Given the description of an element on the screen output the (x, y) to click on. 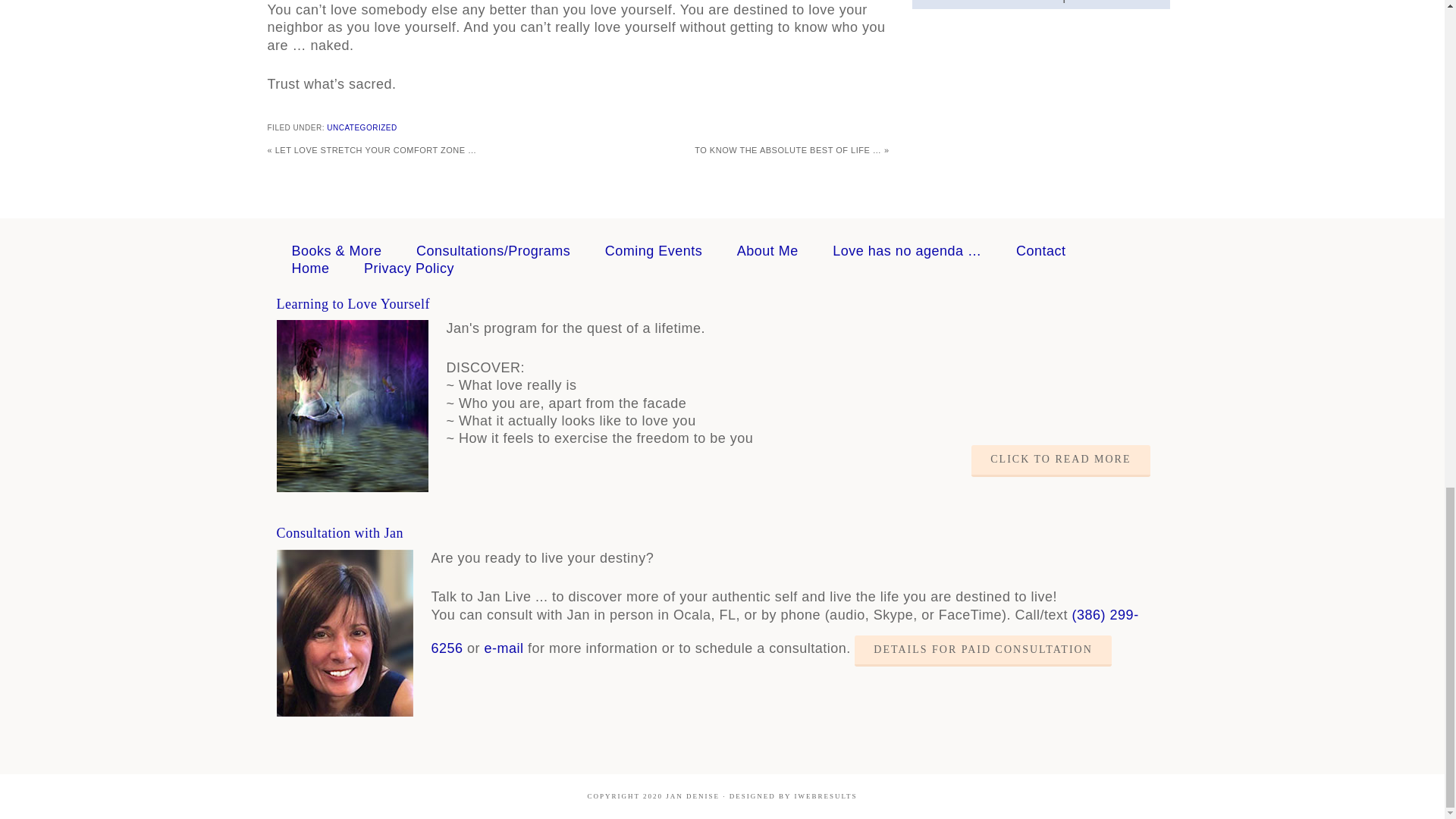
IWEBRESULTS (825, 796)
DETAILS FOR PAID CONSULTATION (982, 650)
About Me (766, 250)
Naked Relationships Reviews (1040, 1)
Coming Events (654, 250)
Contact (1040, 250)
Privacy Policy (409, 268)
CLICK TO READ MORE (1060, 460)
UNCATEGORIZED (361, 127)
e-mail (504, 648)
Home (310, 268)
Web Design Ocala (825, 796)
